Given the description of an element on the screen output the (x, y) to click on. 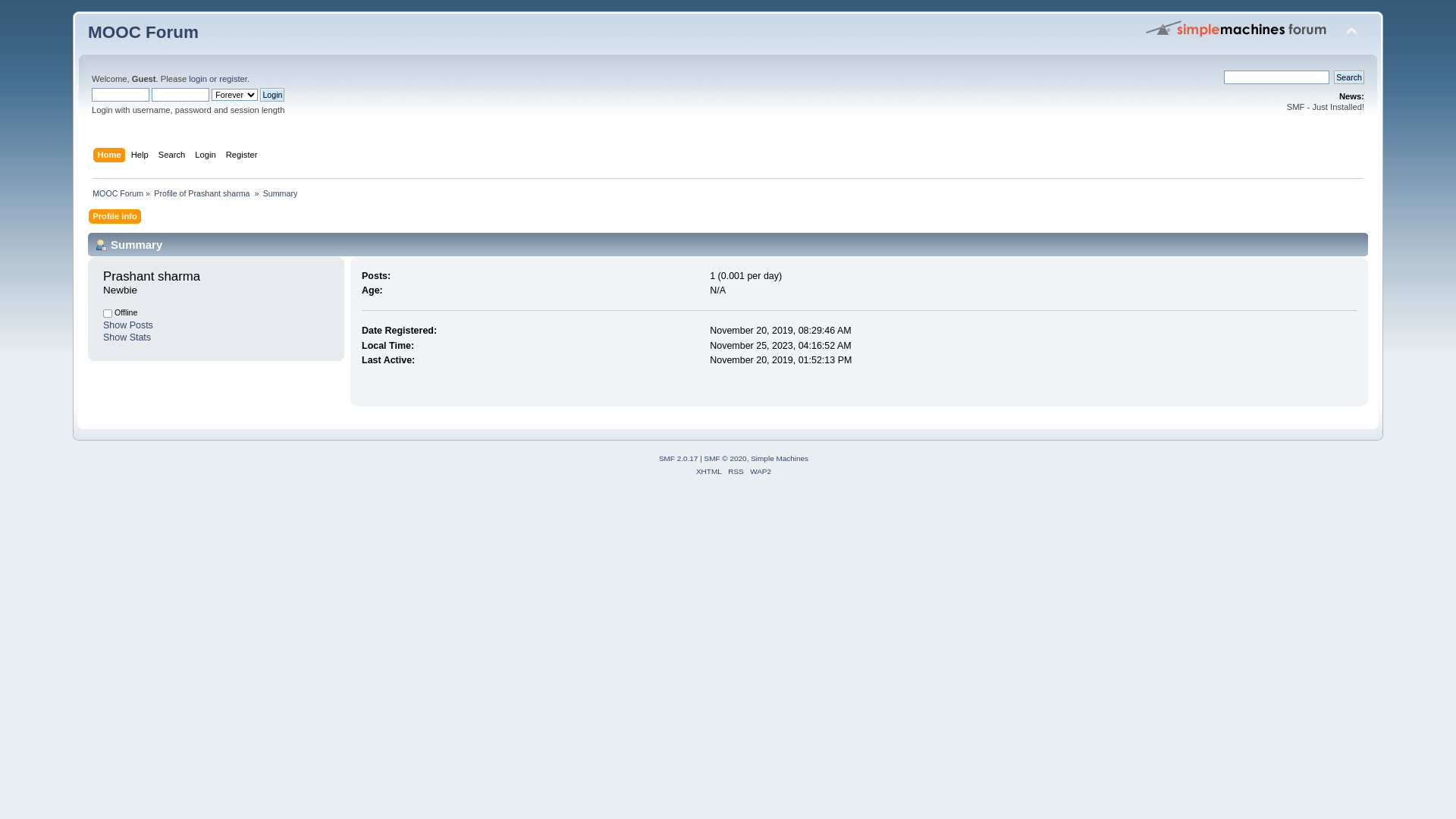
Profile of Prashant sharma  Element type: text (202, 192)
Login Element type: text (206, 155)
WAP2 Element type: text (760, 471)
login Element type: text (197, 78)
RSS Element type: text (735, 471)
Show Posts Element type: text (128, 325)
Login Element type: text (272, 94)
Profile Info Element type: text (116, 217)
XHTML Element type: text (708, 471)
Register Element type: text (243, 155)
Simple Machines Element type: text (779, 458)
MOOC Forum Element type: text (117, 192)
Home Element type: text (110, 155)
MOOC Forum Element type: text (142, 31)
Search Element type: text (1348, 77)
Simple Machines Forum Element type: hover (1236, 27)
register Element type: text (233, 78)
Shrink or expand the header. Element type: hover (1350, 31)
Summary Element type: text (280, 192)
Search Element type: text (173, 155)
SMF 2.0.17 Element type: text (678, 458)
Show Stats Element type: text (126, 337)
Help Element type: text (141, 155)
